Given the description of an element on the screen output the (x, y) to click on. 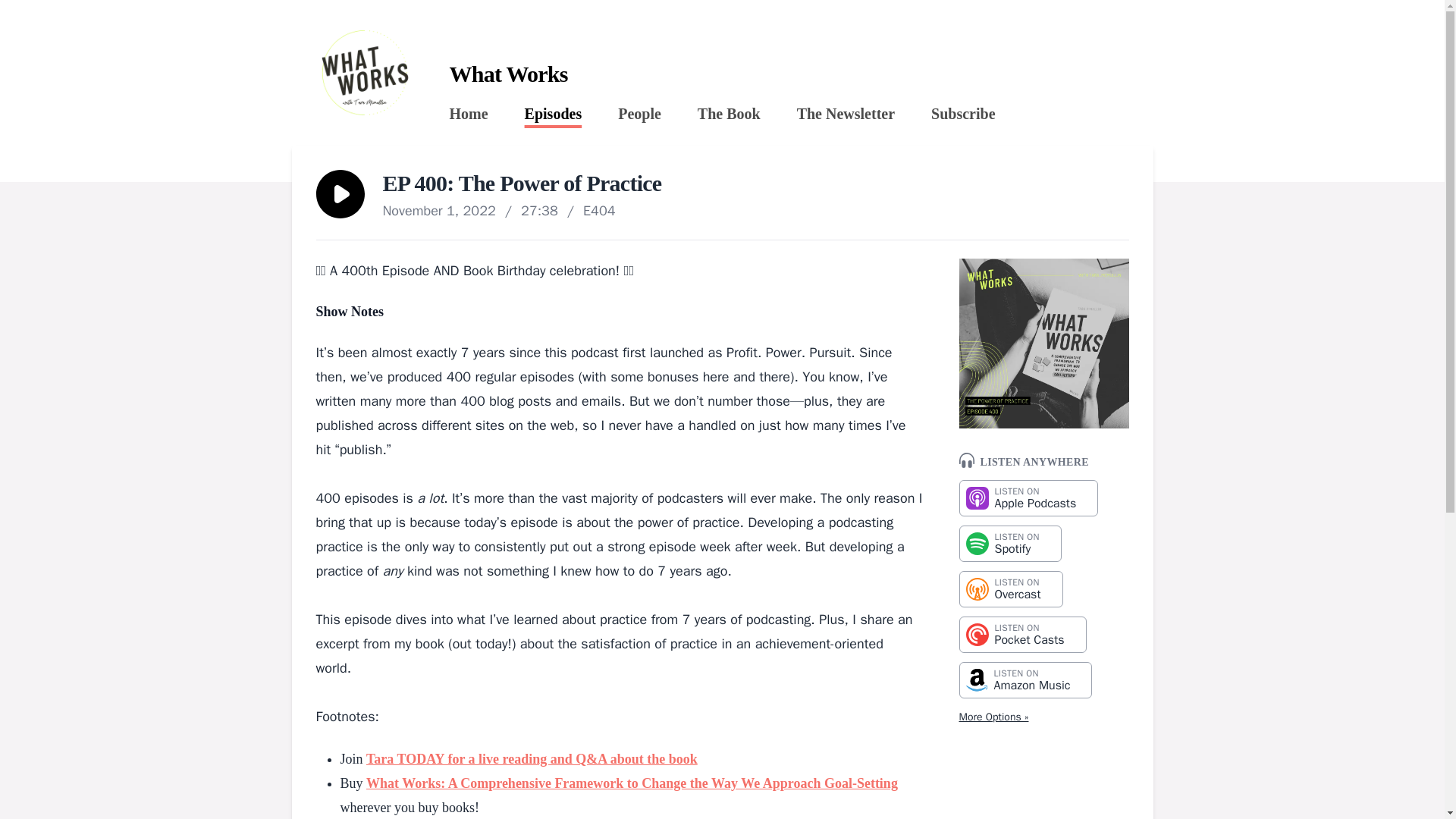
People (639, 113)
Subscribe (962, 113)
The Book (1022, 634)
Episodes (1027, 497)
Episodes (728, 113)
Home (553, 113)
Listen to What Works on Apple Podcasts (553, 113)
Subscribe (467, 113)
People (1027, 497)
Listen to What Works on Overcast (962, 113)
Home (639, 113)
